Given the description of an element on the screen output the (x, y) to click on. 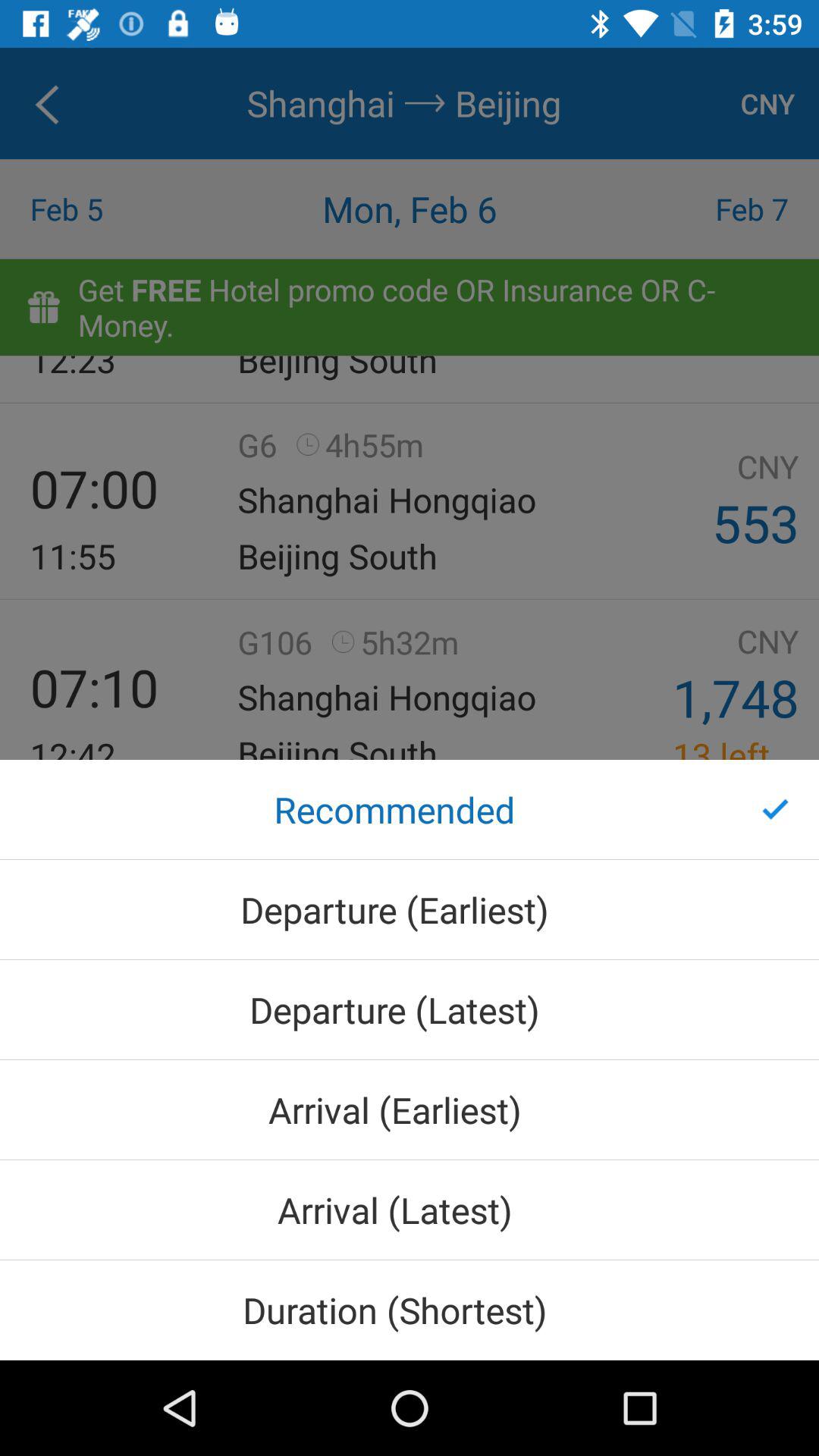
launch the recommended icon (409, 809)
